Given the description of an element on the screen output the (x, y) to click on. 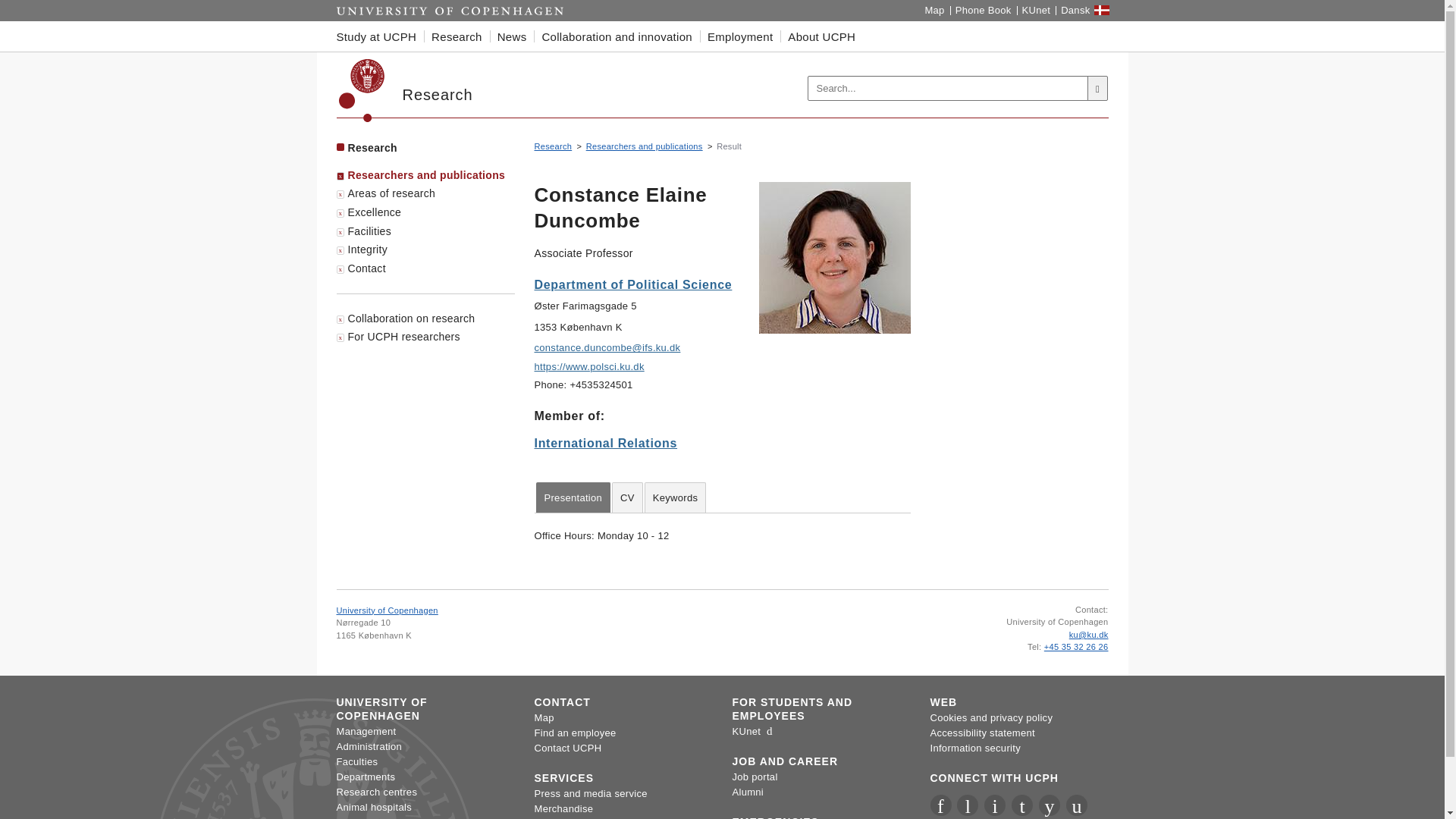
News (511, 36)
Dansk (1074, 10)
Search researchers and publications (644, 145)
Employment (740, 36)
Collaboration and innovation (617, 36)
About UCPH (821, 36)
Start (450, 10)
Study at UCPH (380, 36)
Start (450, 10)
Map (933, 10)
